Given the description of an element on the screen output the (x, y) to click on. 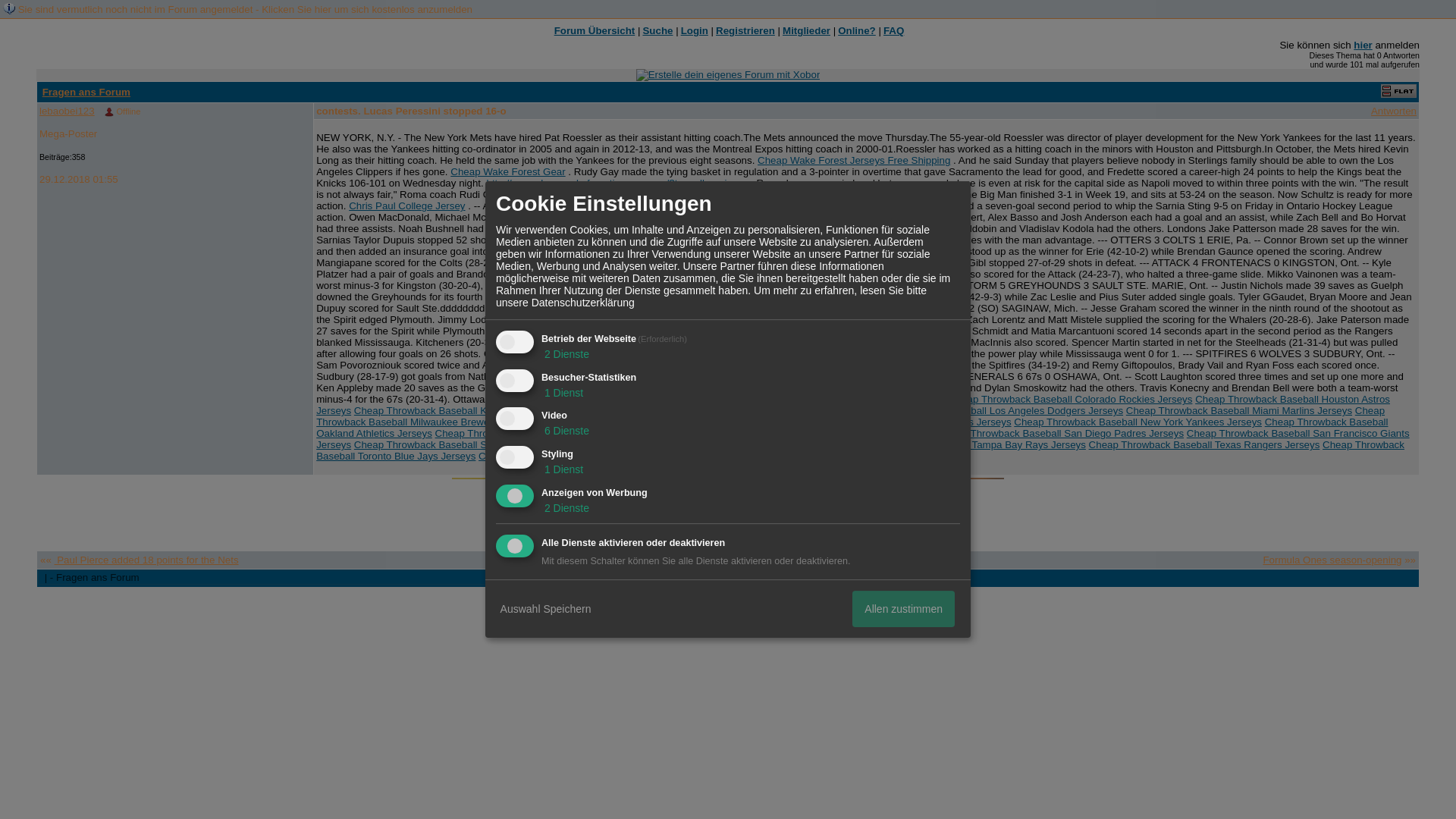
Cheap Throwback Baseball Oakland Athletics Jerseys (851, 427)
Cheap Wake Forest Gear (506, 171)
Cheap Throwback Baseball San Francisco Giants Jerseys (862, 438)
Cheap Throwback Baseball New York Mets Jerseys (895, 421)
Registrieren (745, 30)
Cheap Throwback Baseball Pittsburgh Pirates Jerseys (812, 432)
Cheap Throwback Baseball Colorado Rockies Jerseys (1070, 398)
Erstelle dein eigenes Forum mit Xobor (728, 74)
Cheap Throwback Baseball Miami Marlins Jerseys (1238, 410)
Cheap Throwback Baseball Kansas City Royals Jerseys (479, 410)
Cheap Throwback Baseball St. Louis Cardinals Jerseys (718, 444)
Cheap Throwback Baseball Los Angeles Angels Jerseys (734, 410)
Cheap Throwback Baseball Los Angeles Dodgers Jerseys (992, 410)
Cheap Throwback Baseball Detroit Tigers Jerseys (833, 398)
lebaobei123 (66, 111)
